Given the description of an element on the screen output the (x, y) to click on. 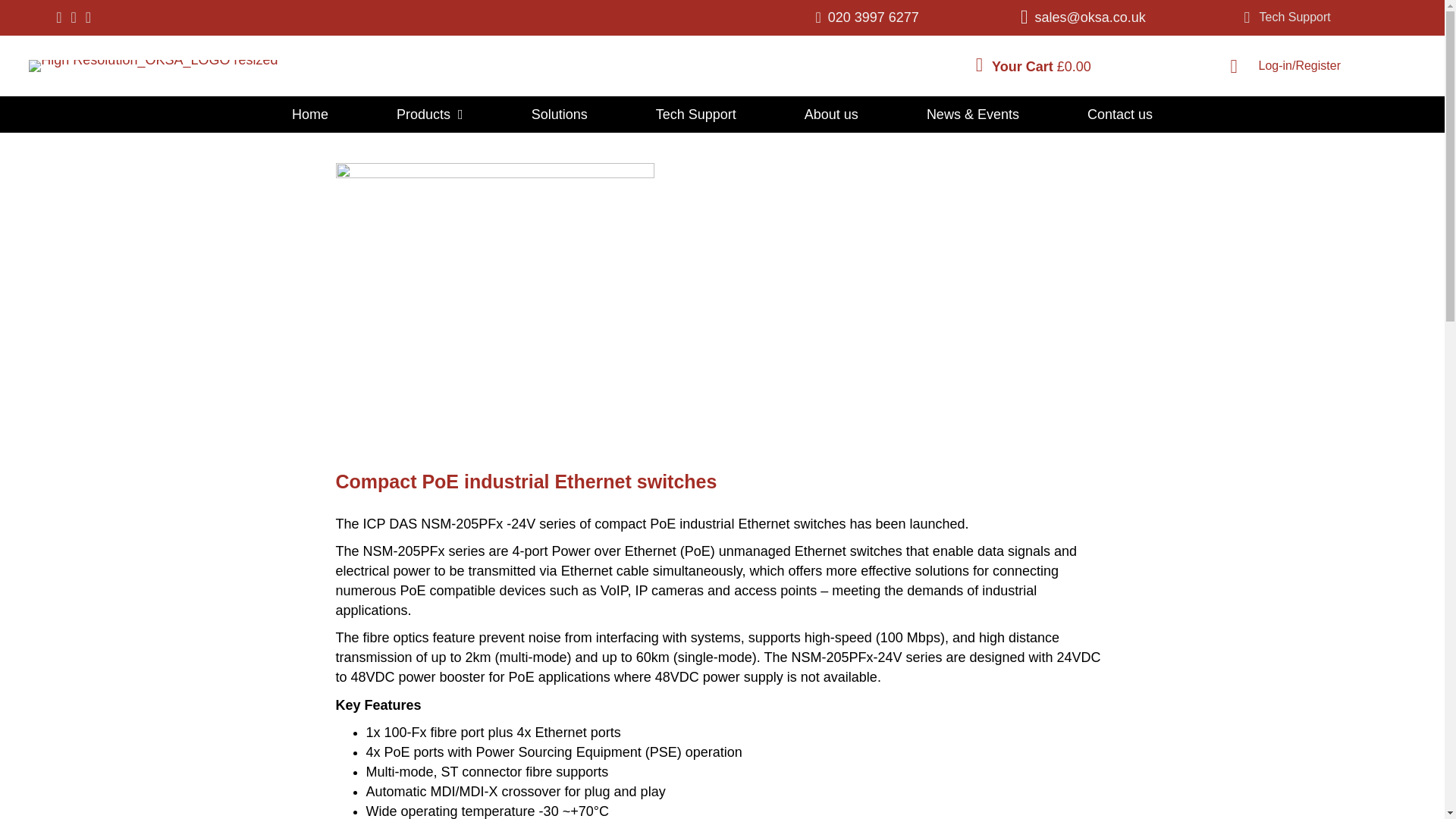
Click Here (1286, 18)
Home (309, 113)
wpforms-submit (620, 356)
Products (429, 113)
Tech Support (1286, 18)
020 3997 6277 (873, 17)
